Given the description of an element on the screen output the (x, y) to click on. 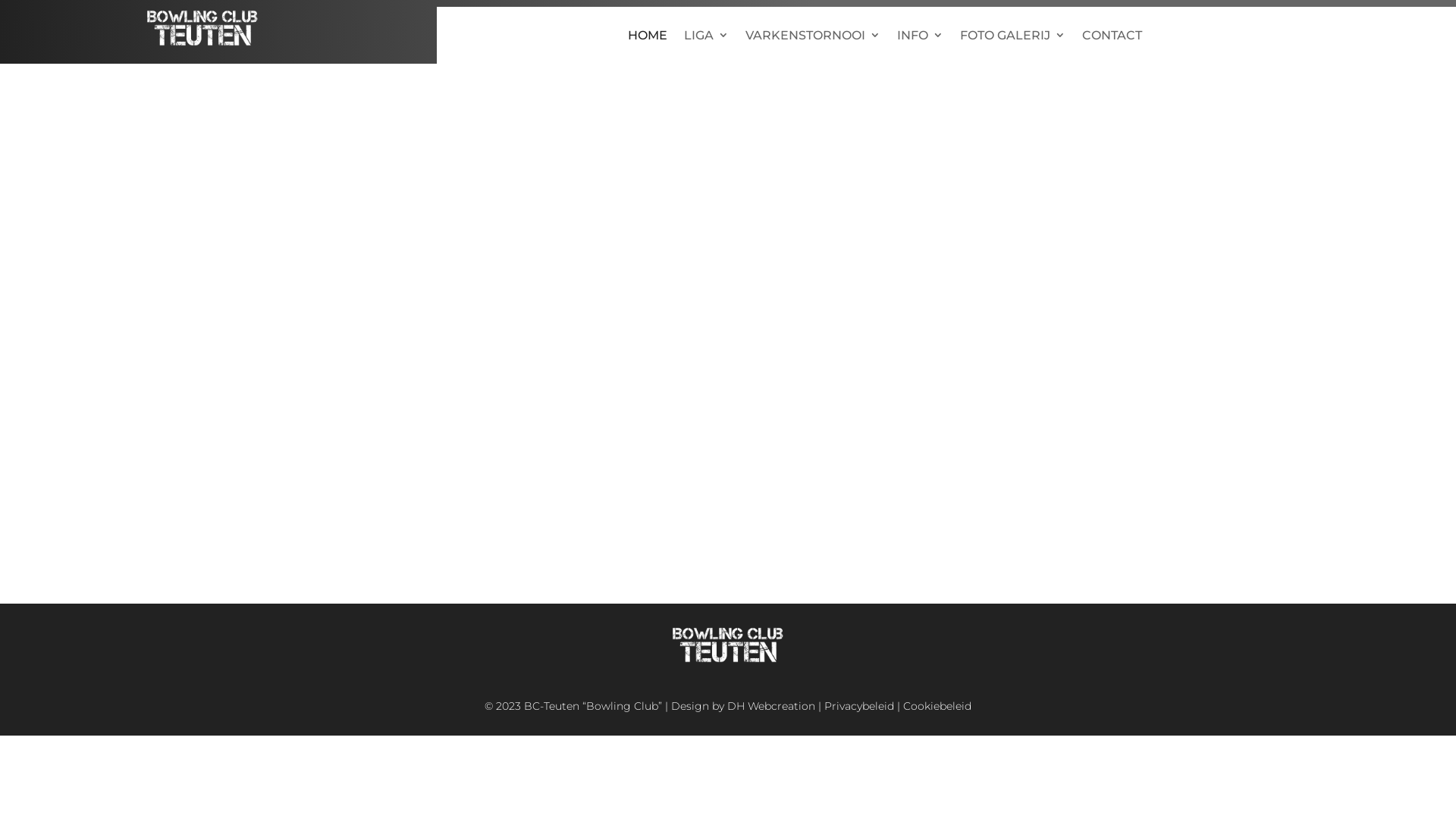
HOME Element type: text (647, 37)
CONTACT Element type: text (1112, 37)
LIGA Element type: text (706, 37)
INFO Element type: text (920, 37)
Cookiebeleid Element type: text (937, 705)
DH Webcreation Element type: text (771, 705)
FOTO GALERIJ Element type: text (1012, 37)
Privacybeleid Element type: text (859, 705)
Top1LogoBCTeuten Element type: hover (727, 644)
Top1LogoBCTeuten Element type: hover (202, 27)
VARKENSTORNOOI Element type: text (812, 37)
